Given the description of an element on the screen output the (x, y) to click on. 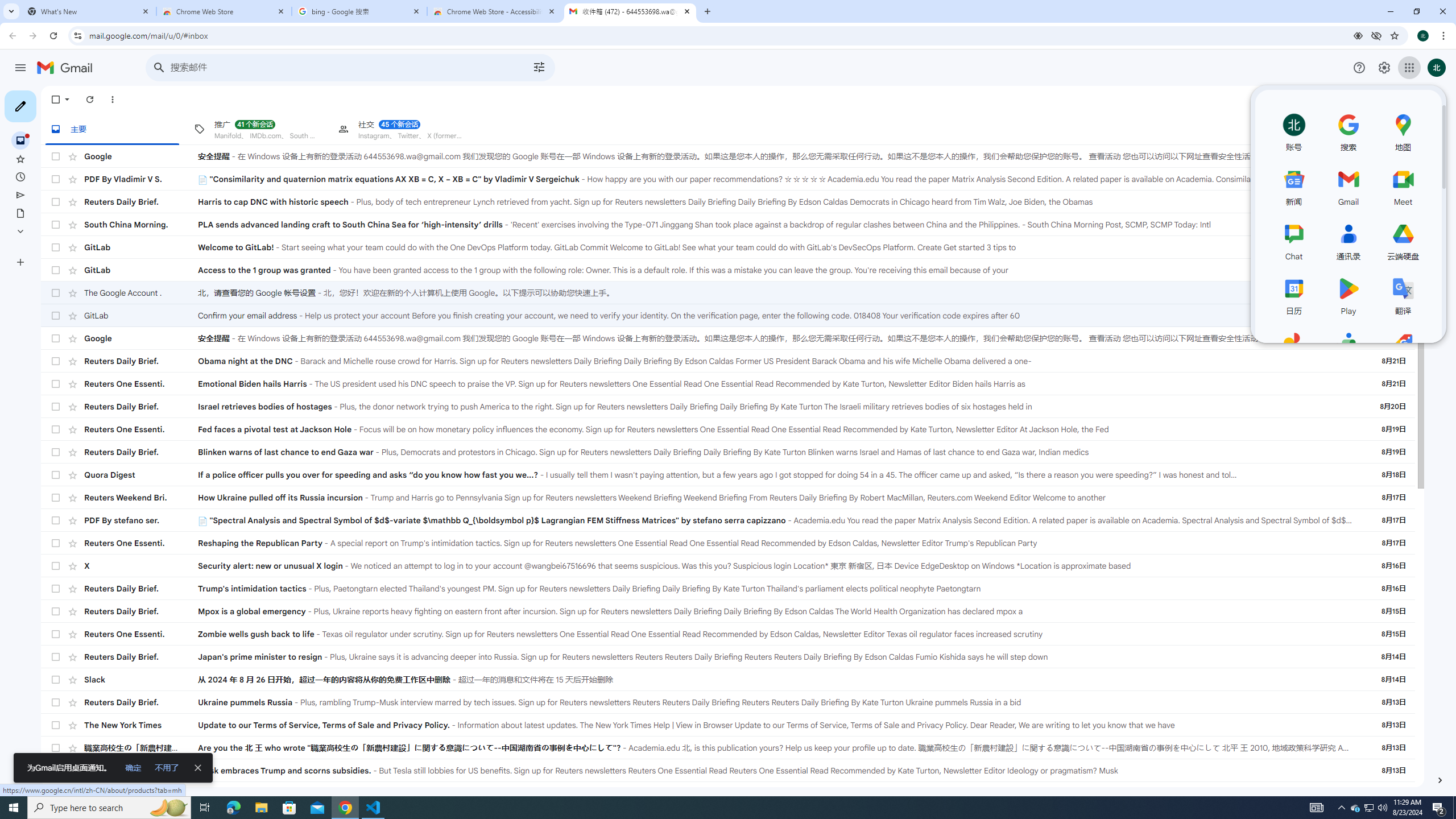
Reload (52, 35)
